Given the description of an element on the screen output the (x, y) to click on. 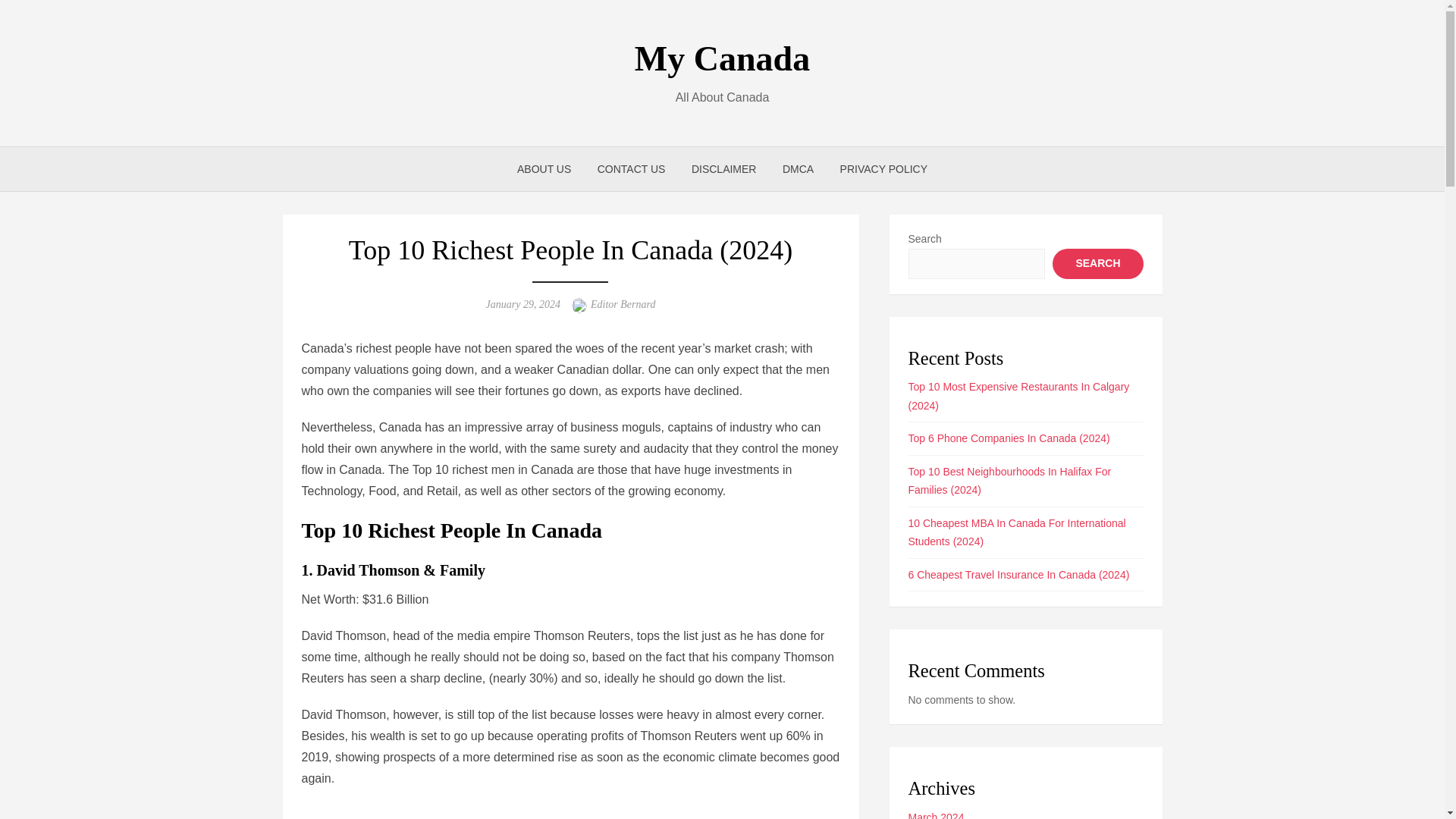
Editor Bernard (623, 304)
DMCA (798, 168)
CONTACT US (631, 168)
ABOUT US (543, 168)
DISCLAIMER (723, 168)
My Canada (721, 58)
January 29, 2024 (523, 304)
March 2024 (935, 815)
PRIVACY POLICY (883, 168)
SEARCH (1097, 263)
